Given the description of an element on the screen output the (x, y) to click on. 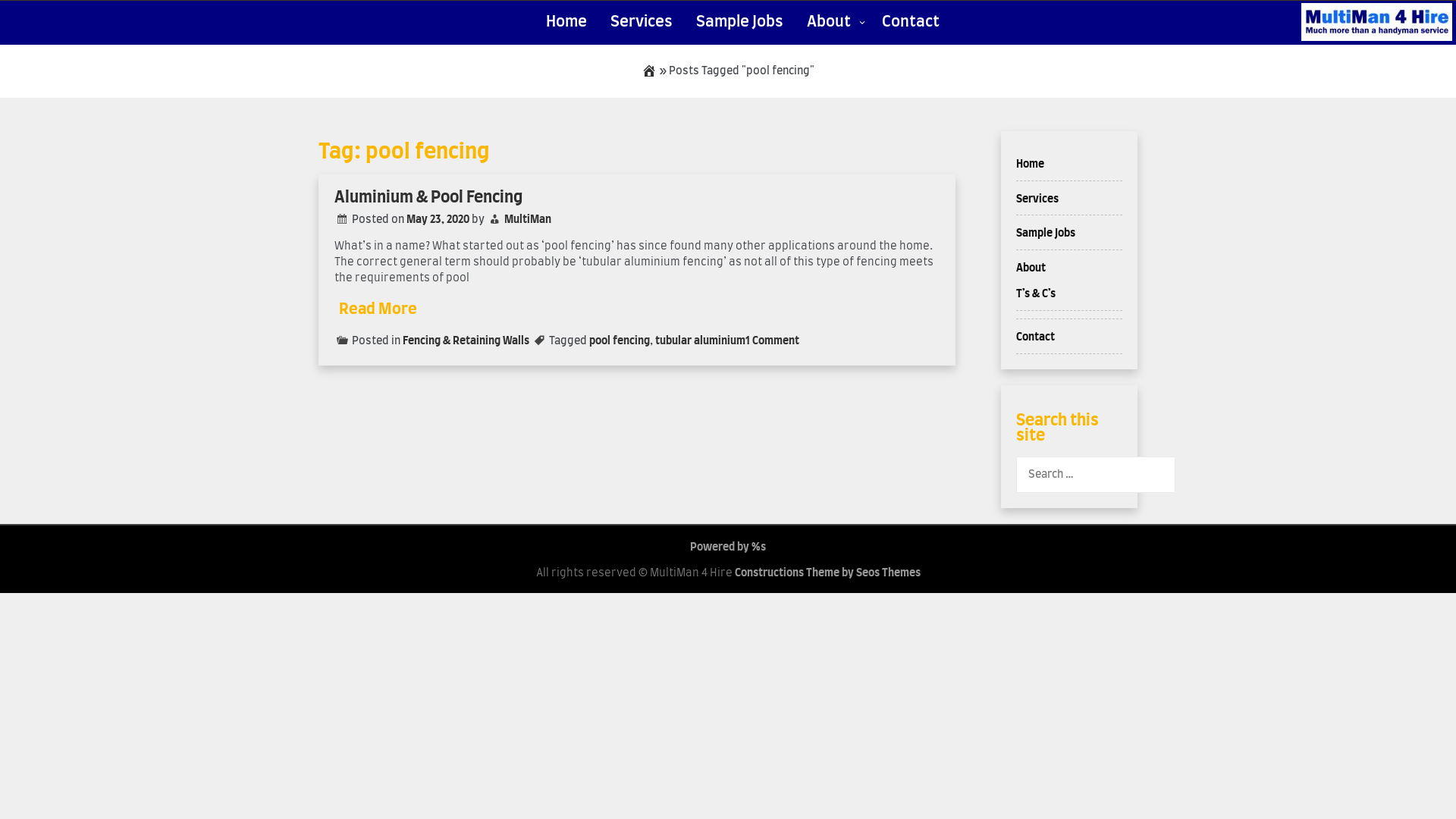
Services Element type: text (1037, 199)
Contact Element type: text (1035, 337)
Read More Element type: text (377, 309)
Sample Jobs Element type: text (1045, 233)
About Element type: text (1030, 268)
Contact Element type: text (910, 22)
Aluminium & Pool Fencing Element type: text (428, 197)
Home Element type: text (1030, 164)
tubular aluminium Element type: text (700, 340)
pool fencing Element type: text (619, 340)
Fencing & Retaining Walls Element type: text (465, 340)
Powered by %s Element type: text (727, 547)
1 Comment
on Aluminium & Pool Fencing Element type: text (772, 340)
MultiMan Element type: text (527, 219)
Home Element type: text (566, 22)
Search Element type: text (30, 18)
About Element type: text (832, 23)
Sample Jobs Element type: text (739, 22)
Services Element type: text (641, 22)
Constructions Theme by Seos Themes Element type: text (826, 572)
May 23, 2020 Element type: text (437, 219)
